Given the description of an element on the screen output the (x, y) to click on. 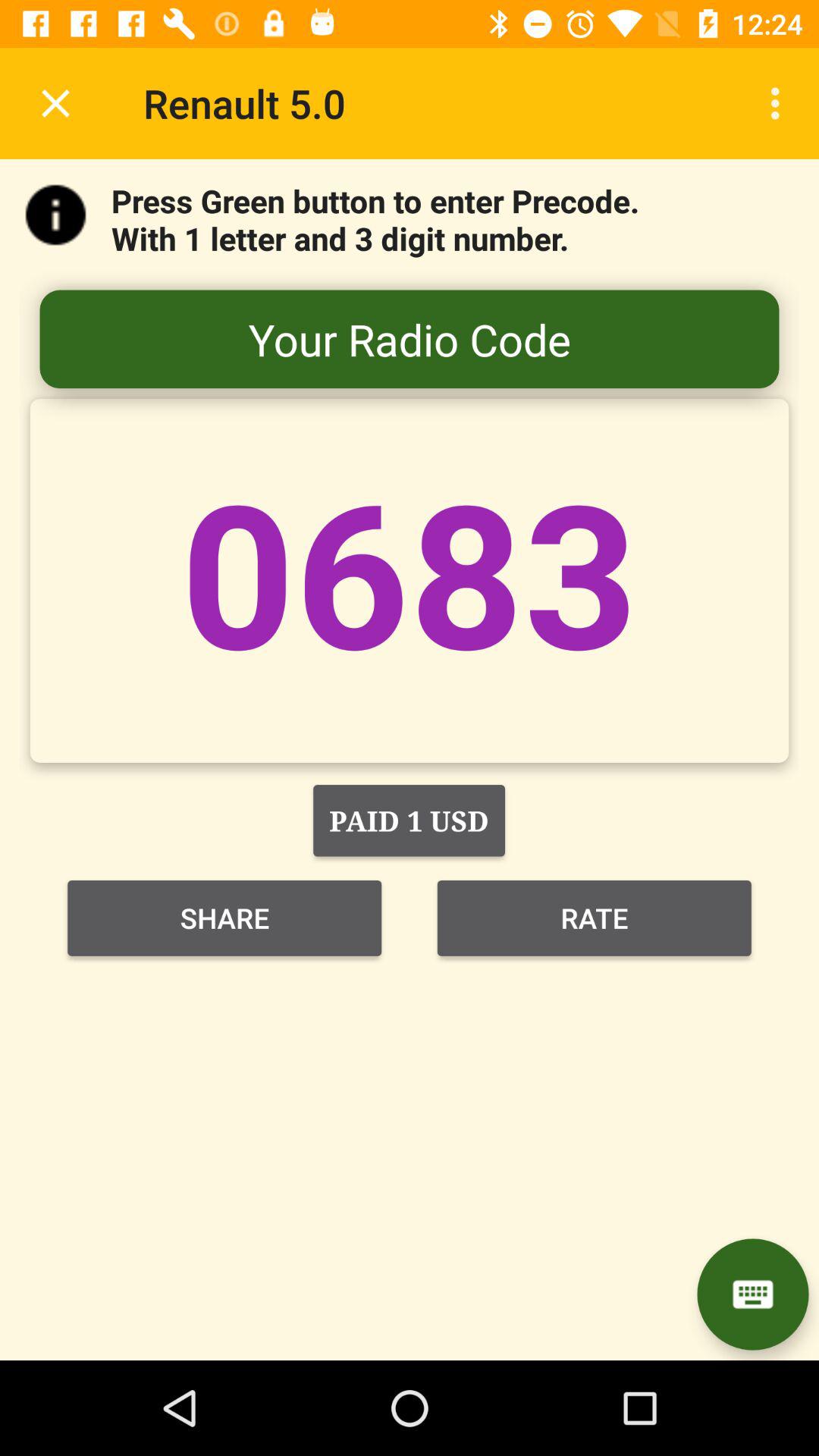
launch item next to the renault 5.0 (55, 103)
